Given the description of an element on the screen output the (x, y) to click on. 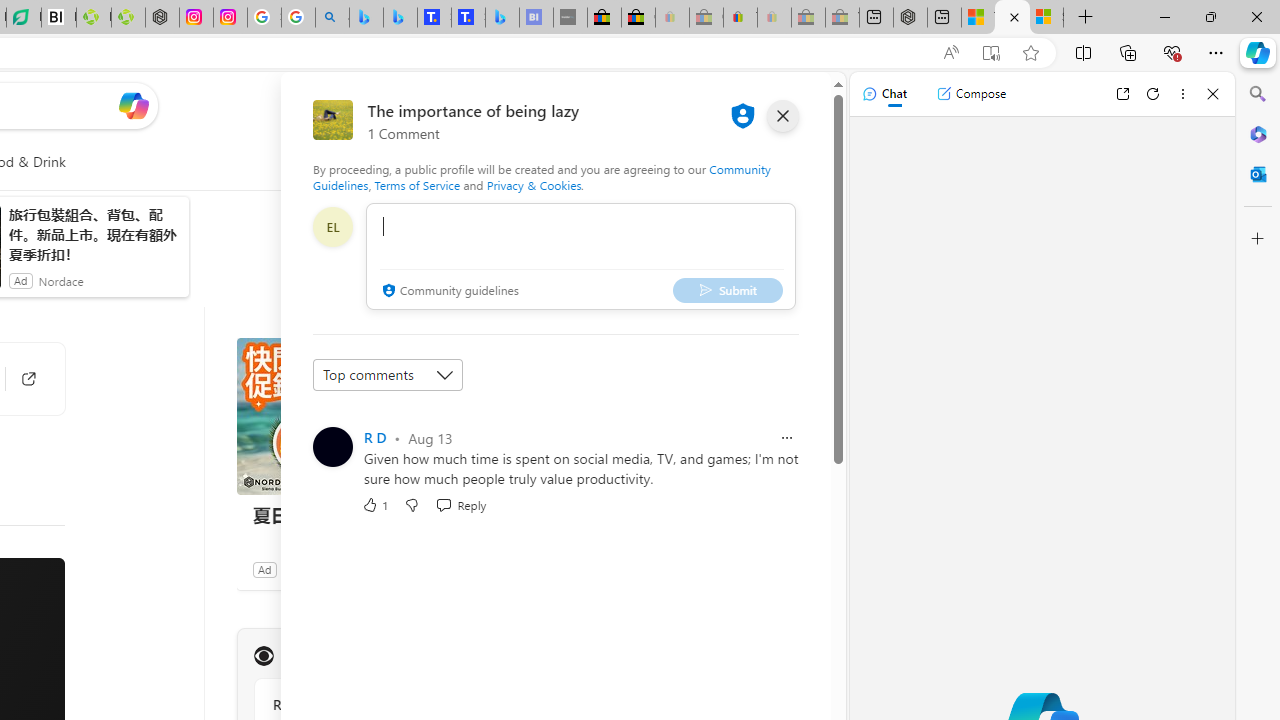
Profile Picture (333, 446)
Go to publisher's site (18, 378)
Nvidia va a poner a prueba la paciencia de los inversores (58, 17)
